Given the description of an element on the screen output the (x, y) to click on. 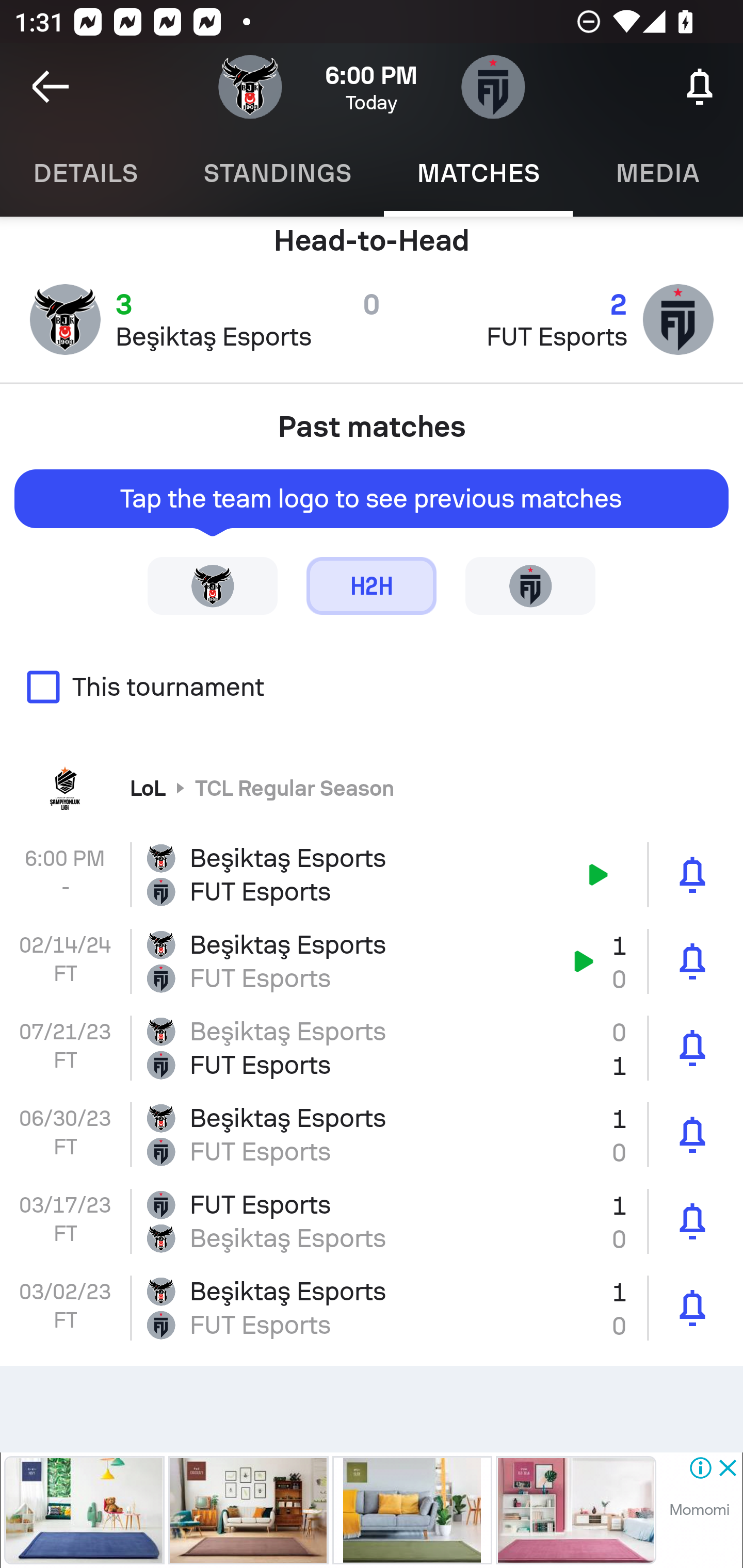
Navigate up (50, 86)
Details DETAILS (85, 173)
Standings STANDINGS (277, 173)
Media MEDIA (657, 173)
H2H (371, 585)
This tournament (371, 687)
LoL TCL Regular Season (371, 787)
6:00 PM - Beşiktaş Esports FUT Esports (371, 874)
02/14/24 FT Beşiktaş Esports FUT Esports 1 0 (371, 961)
07/21/23 FT Beşiktaş Esports 0 FUT Esports 1 (371, 1048)
06/30/23 FT Beşiktaş Esports 1 FUT Esports 0 (371, 1134)
03/17/23 FT FUT Esports 1 Beşiktaş Esports 0 (371, 1221)
03/02/23 FT Beşiktaş Esports 1 FUT Esports 0 (371, 1308)
Momomi (699, 1509)
